Given the description of an element on the screen output the (x, y) to click on. 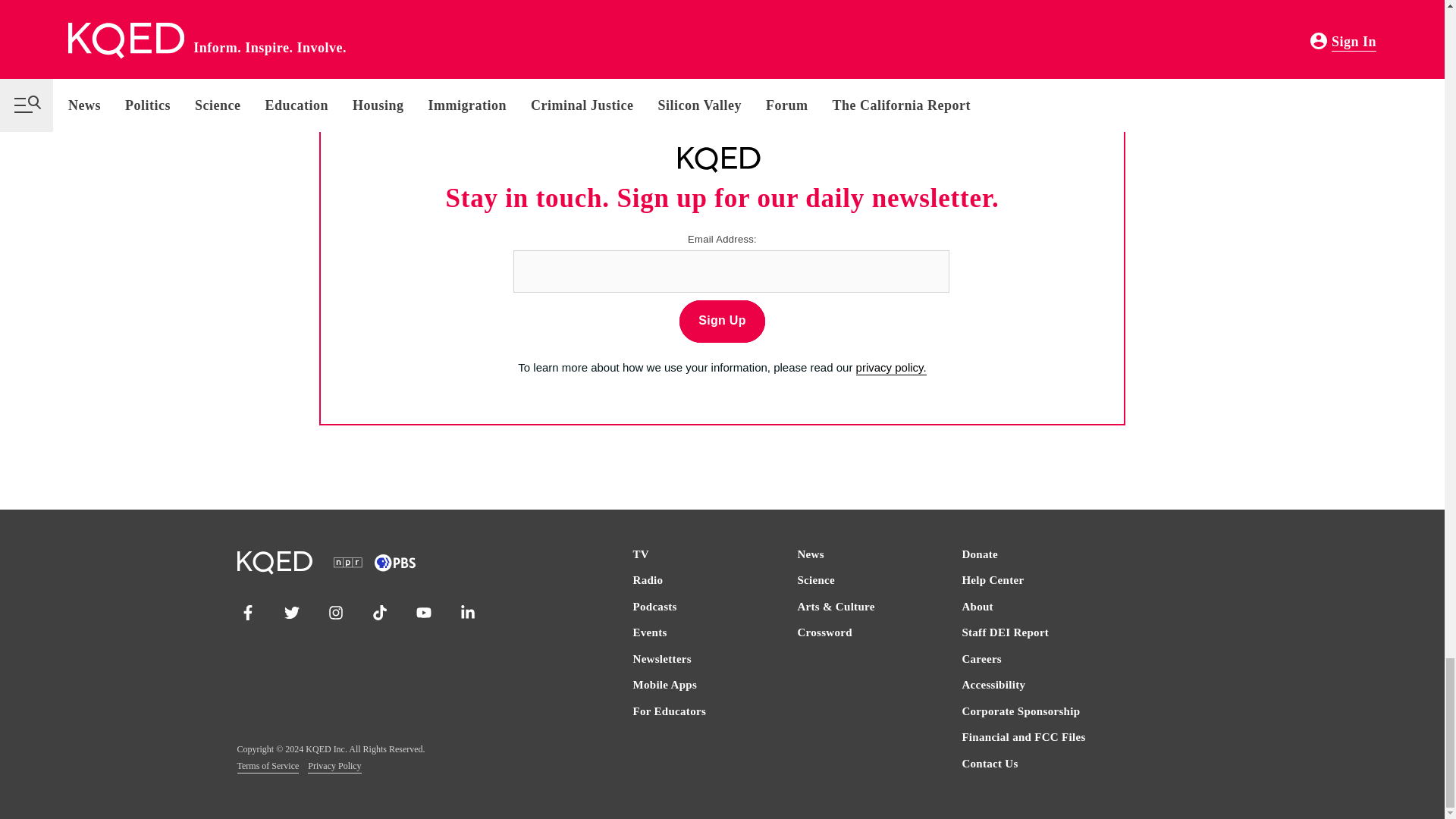
KQED (719, 159)
